Given the description of an element on the screen output the (x, y) to click on. 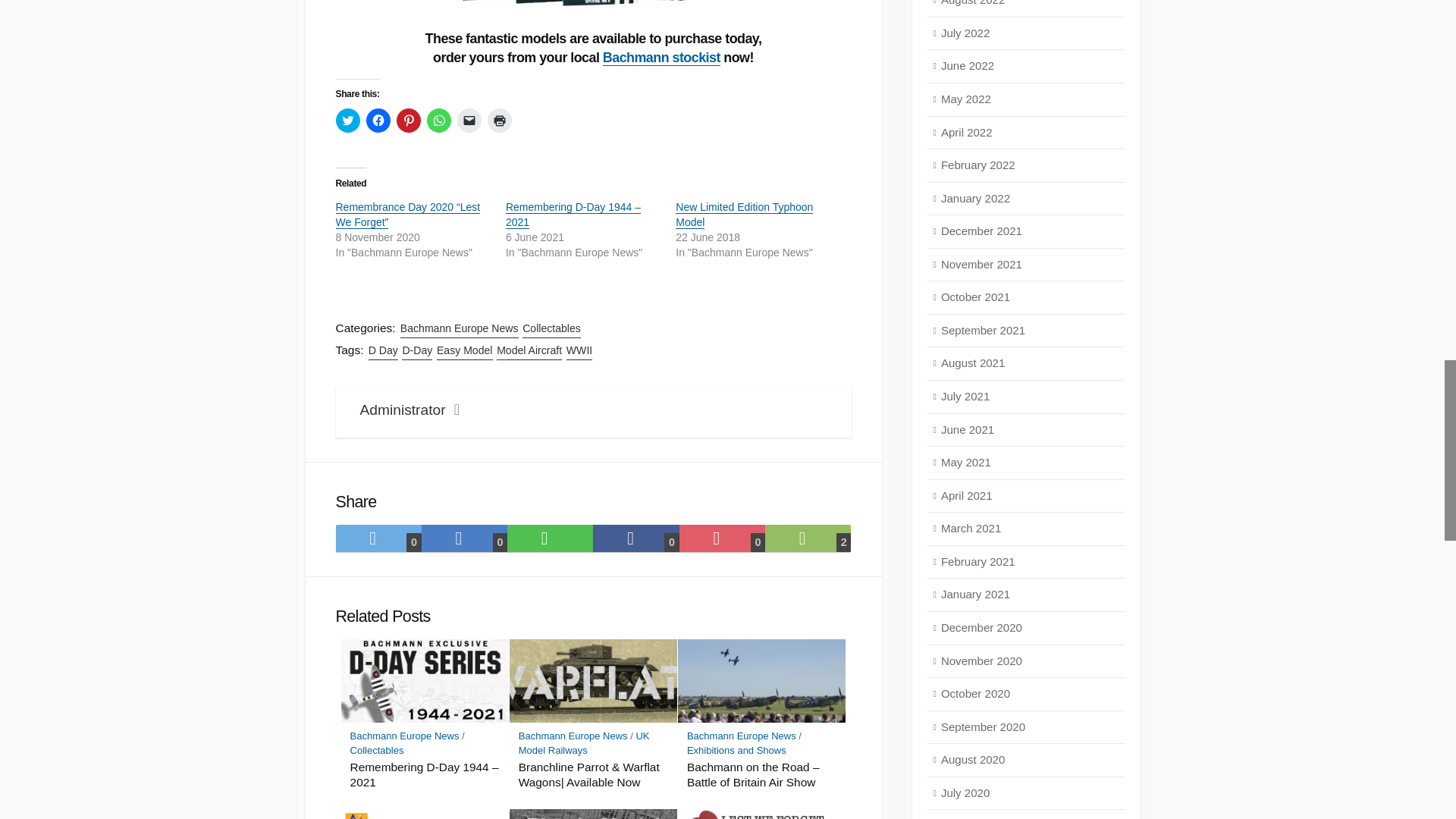
Click to share on WhatsApp (437, 120)
Easy Model (464, 350)
Bachmann stockist (661, 57)
WWII (579, 350)
Click to share on Twitter (346, 120)
Click to share on Pinterest (408, 120)
Bachmann Europe News (459, 328)
Click to share on Facebook (377, 120)
Share on Twitter (377, 538)
D-Day (416, 350)
Click to email a link to a friend (468, 120)
D Day (382, 350)
Collectables (551, 328)
New Limited Edition Typhoon Model (743, 214)
Click to print (498, 120)
